Given the description of an element on the screen output the (x, y) to click on. 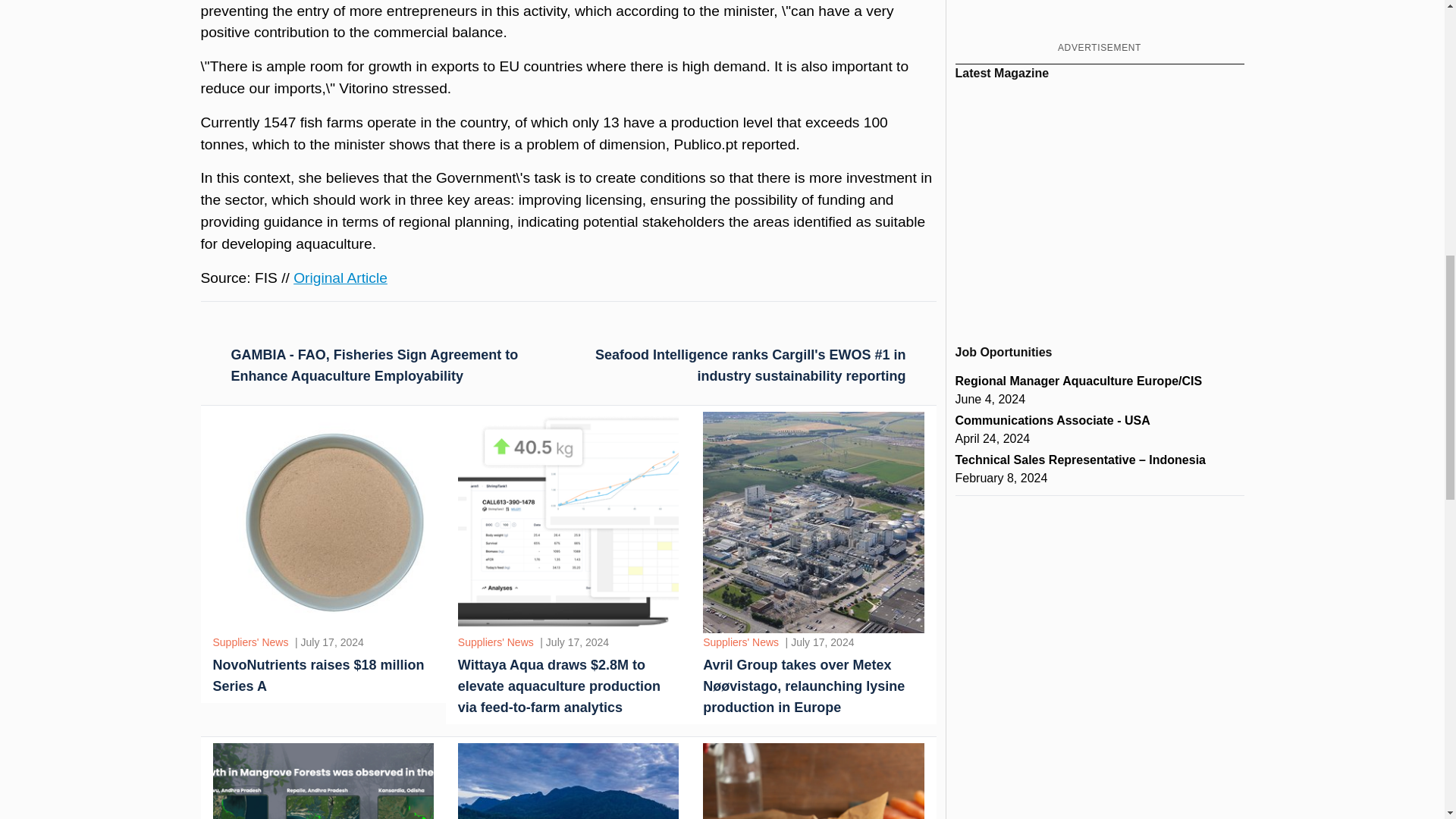
3rd party ad content (1098, 18)
Magazine viewer (1099, 206)
